Given the description of an element on the screen output the (x, y) to click on. 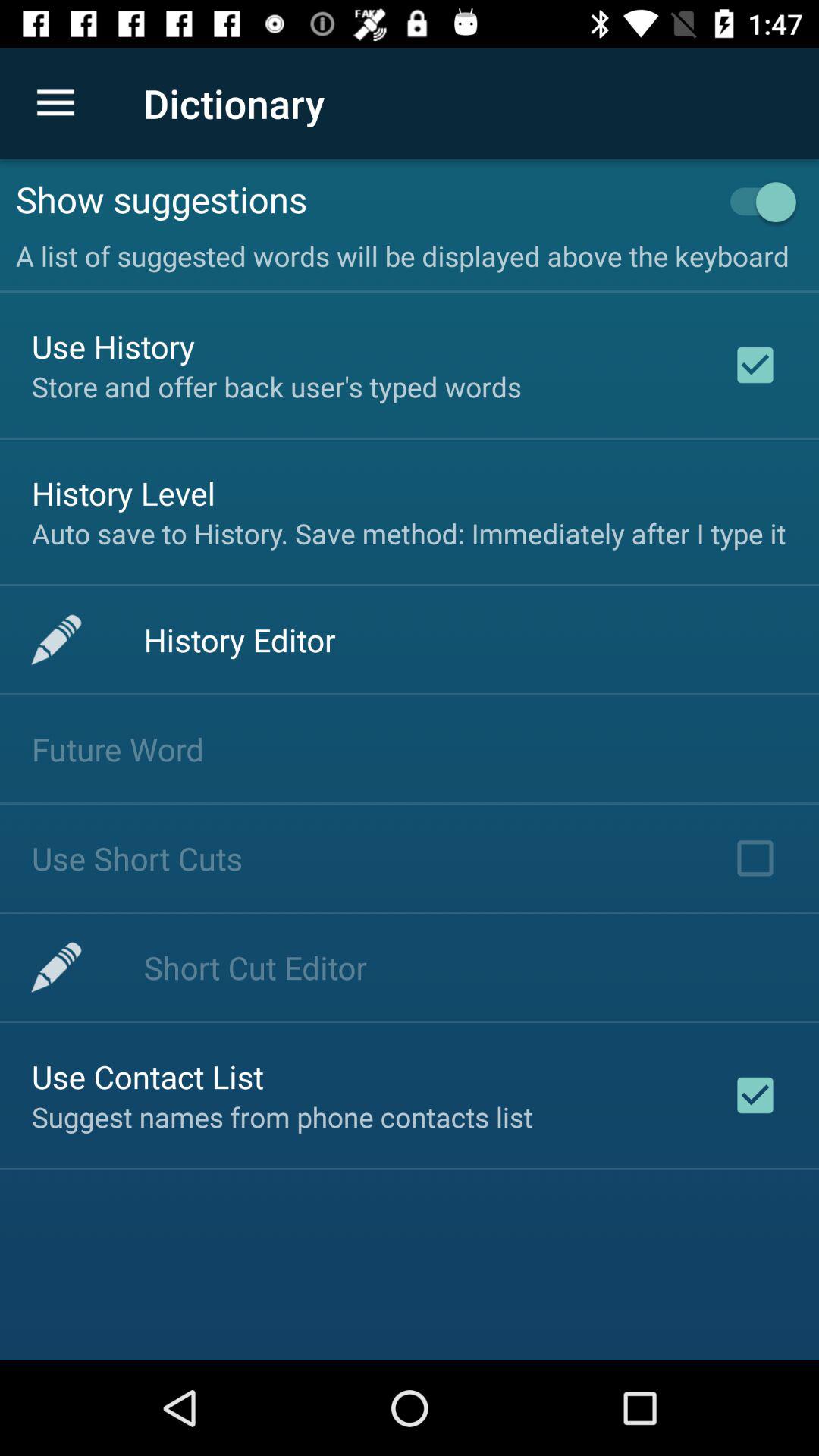
turn on the auto save to item (408, 533)
